Given the description of an element on the screen output the (x, y) to click on. 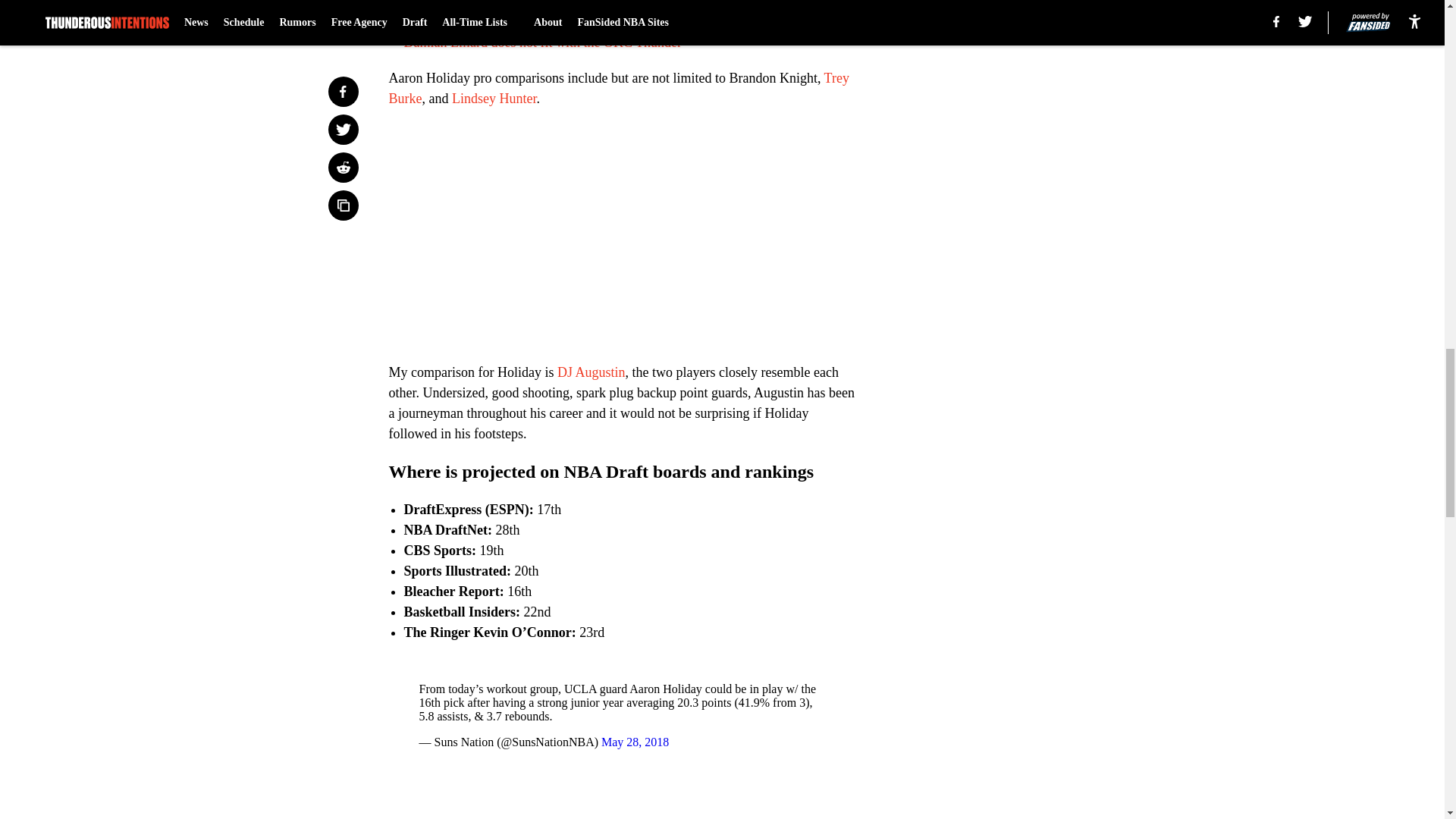
May 28, 2018 (634, 741)
Lindsey Hunter (493, 98)
Damian Lillard does not fit with the OKC Thunder (542, 42)
Trey Burke (618, 88)
DJ Augustin (591, 372)
